Given the description of an element on the screen output the (x, y) to click on. 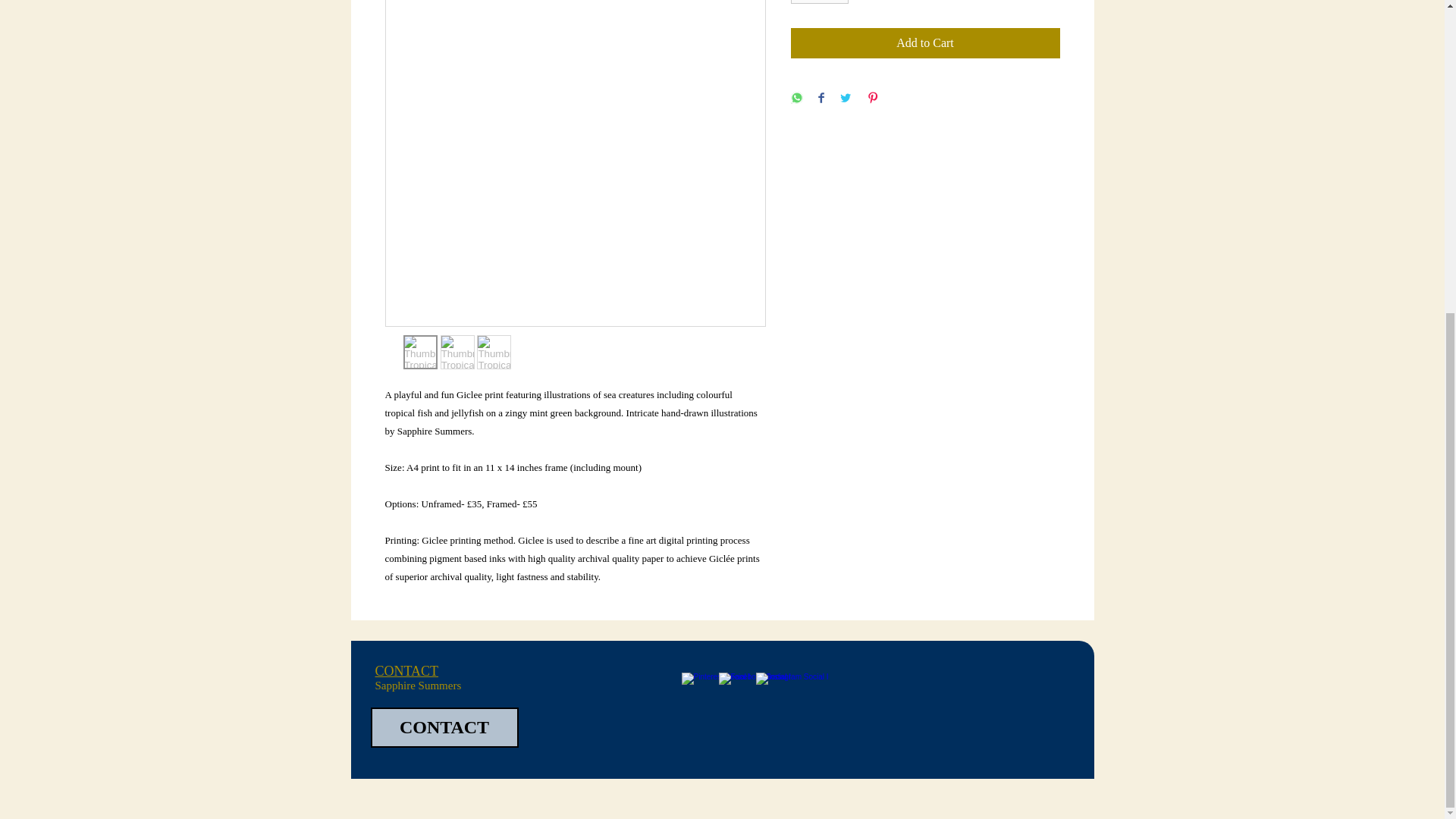
1 (818, 2)
Add to Cart (924, 42)
CONTACT (406, 670)
CONTACT (443, 727)
